Given the description of an element on the screen output the (x, y) to click on. 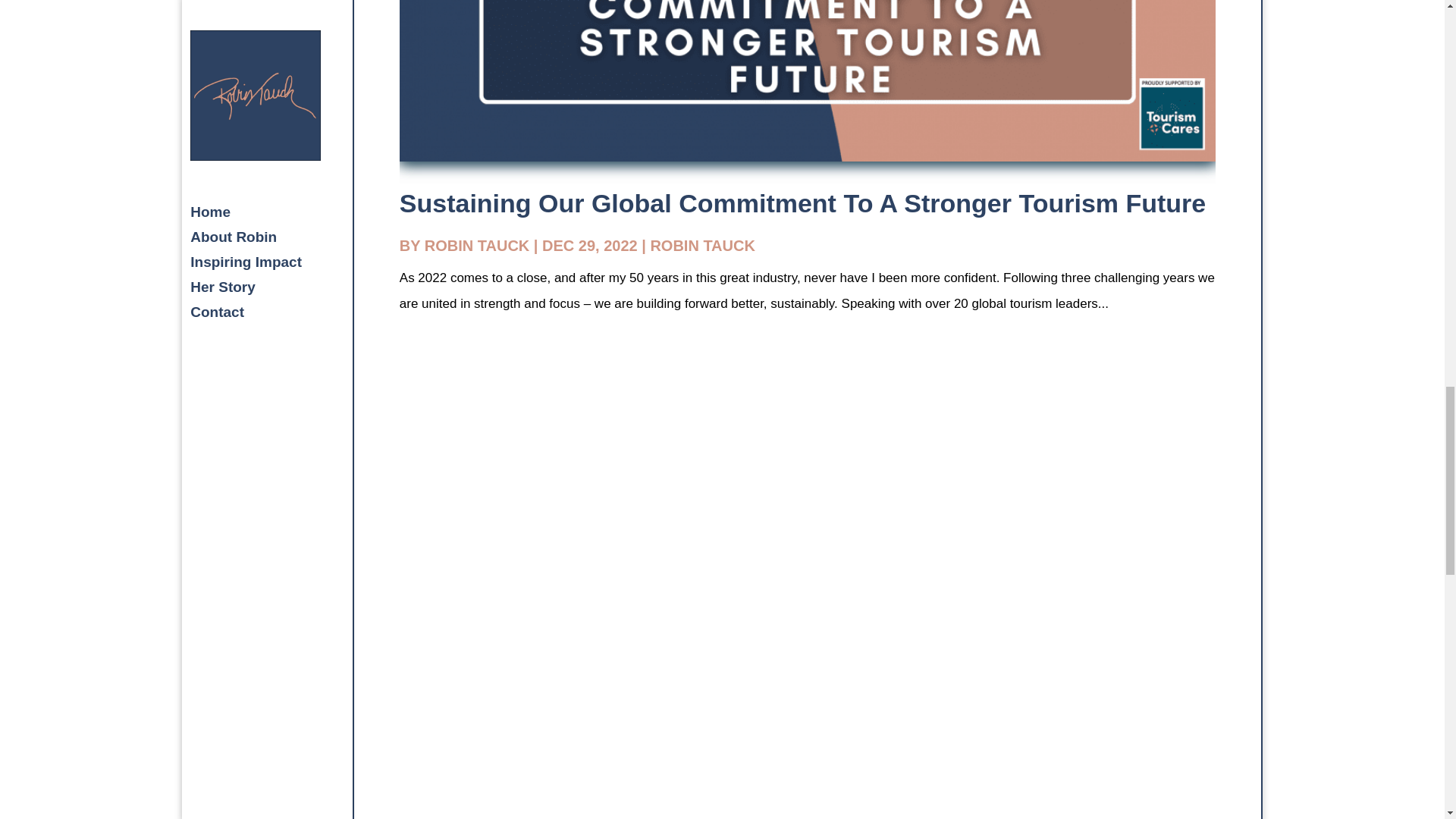
Posts by Robin Tauck (477, 245)
ROBIN TAUCK (477, 245)
ROBIN TAUCK (702, 245)
